Given the description of an element on the screen output the (x, y) to click on. 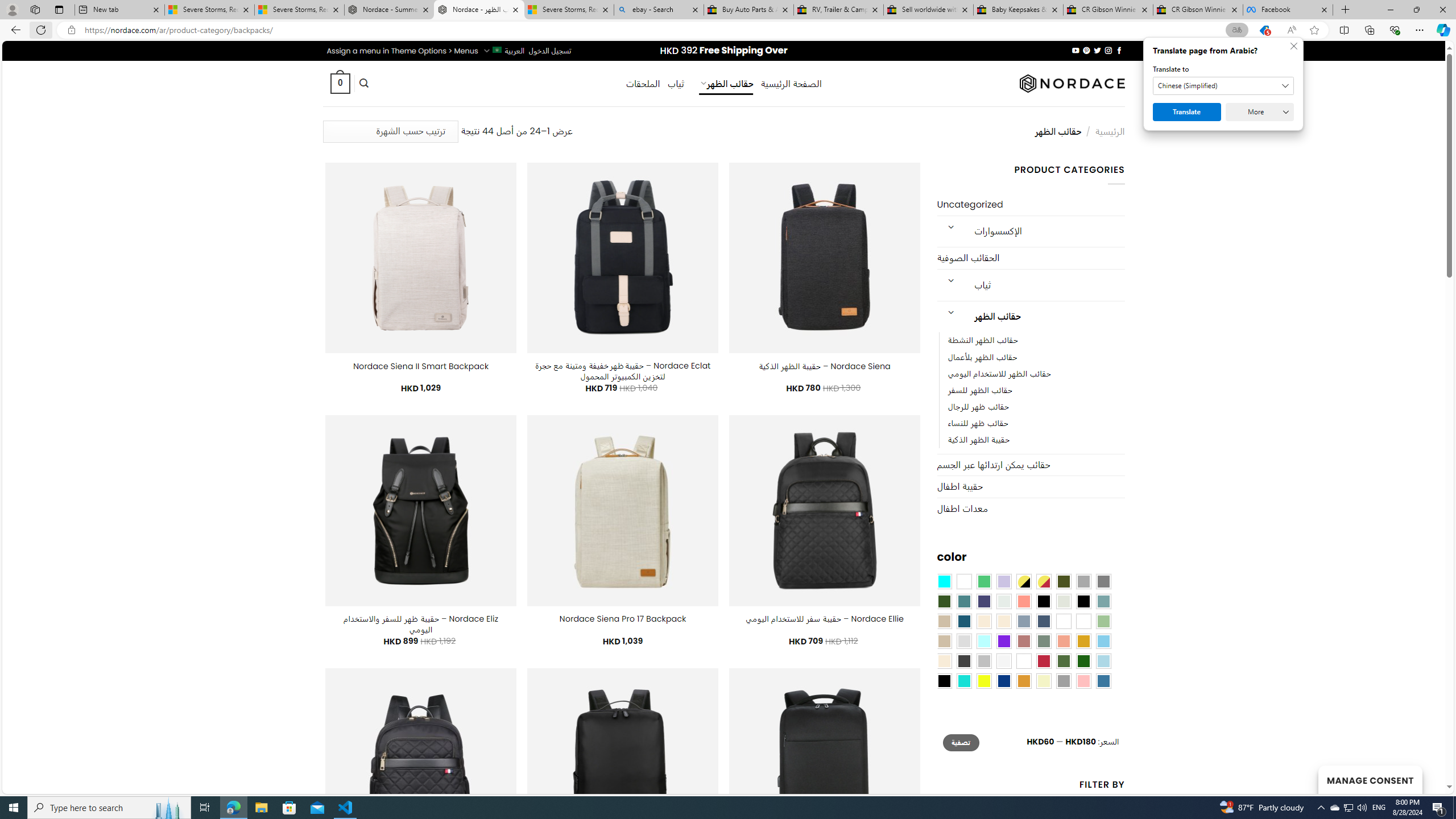
Mint (983, 640)
 0  (340, 83)
Baby Keepsakes & Announcements for sale | eBay (1018, 9)
Light Purple (1003, 581)
Black-Brown (1082, 601)
